Given the description of an element on the screen output the (x, y) to click on. 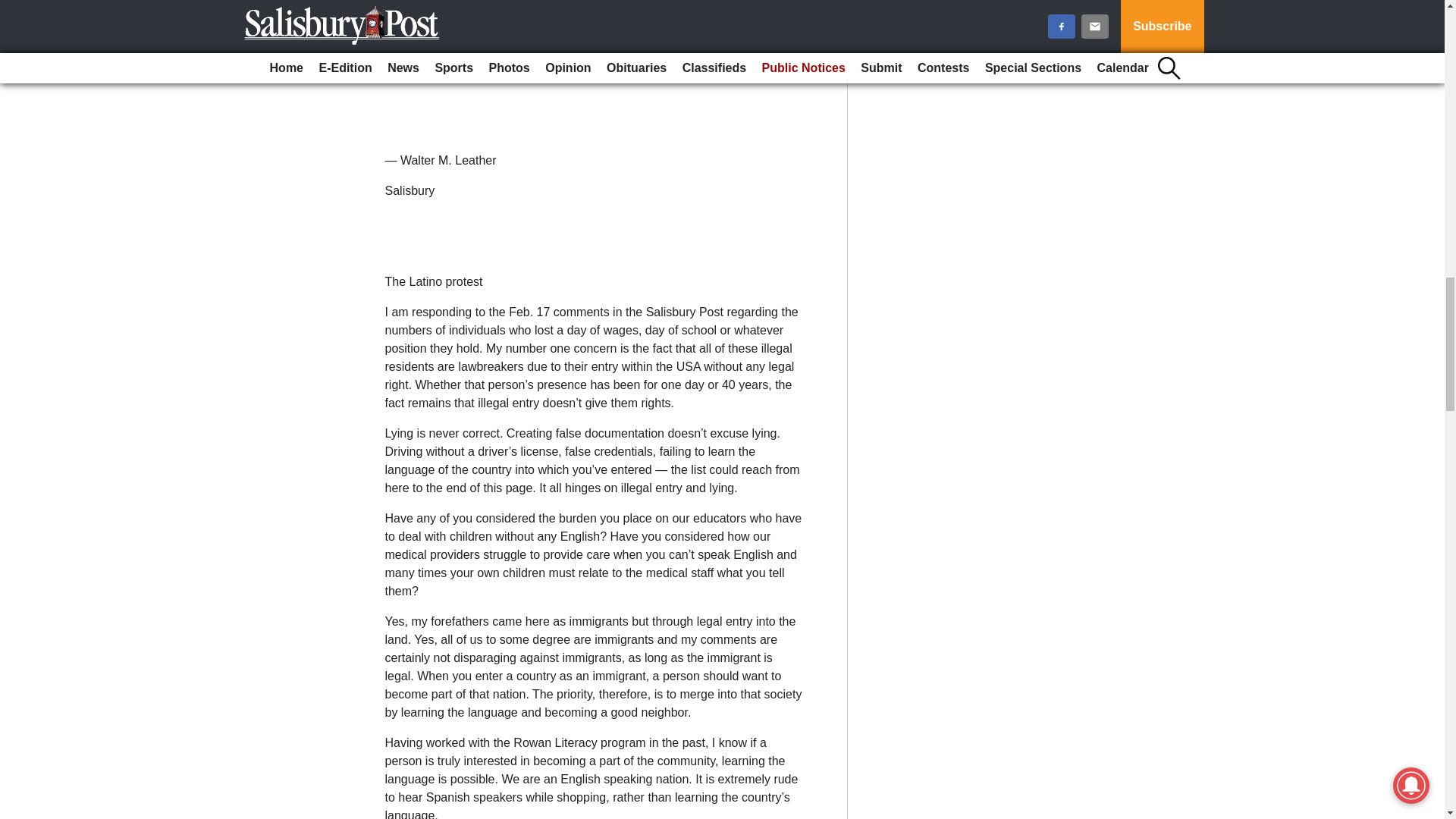
3rd party ad content (592, 63)
